Given the description of an element on the screen output the (x, y) to click on. 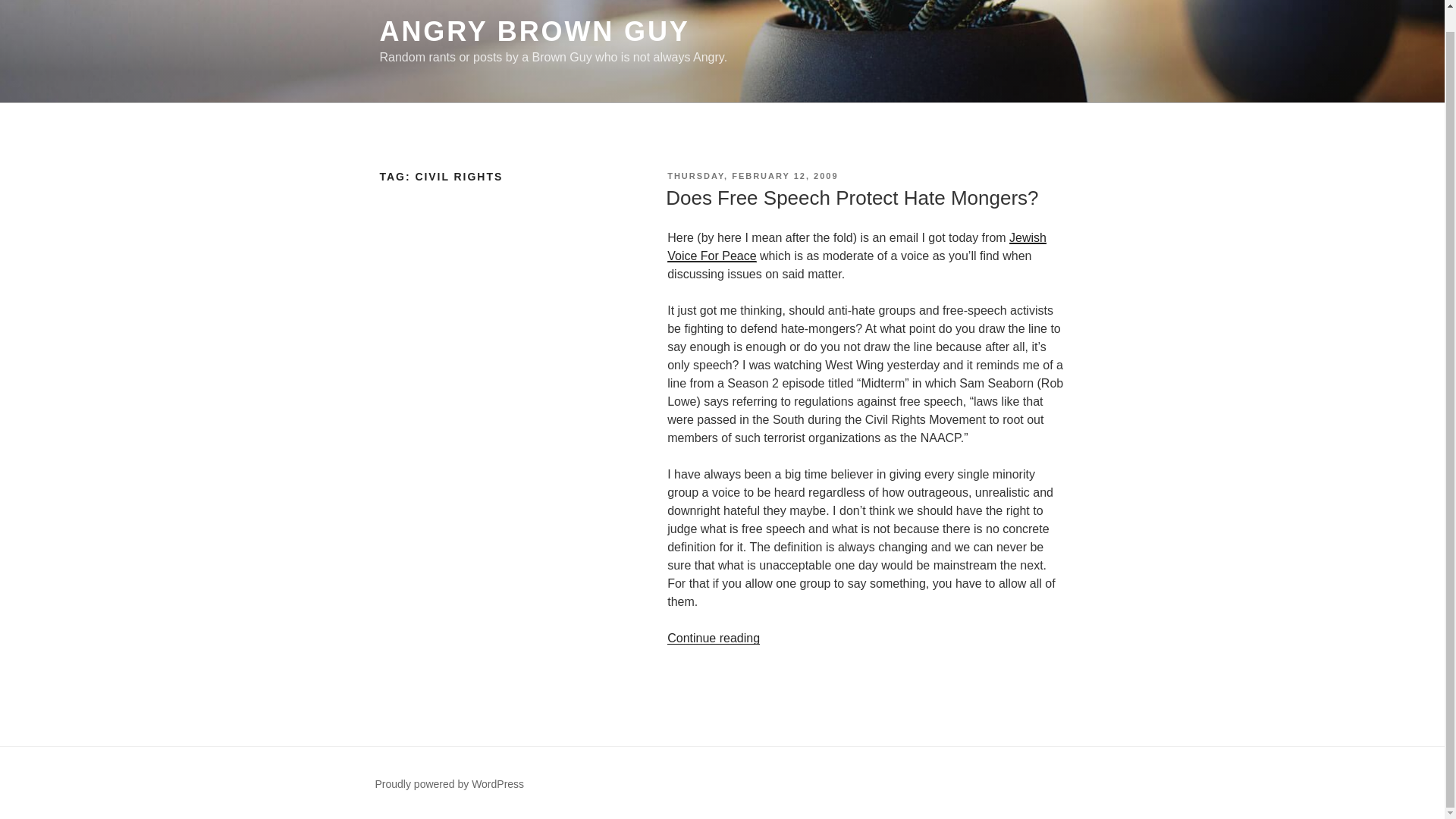
ANGRY BROWN GUY (533, 30)
Jewish Voice For Peace (856, 246)
Proudly powered by WordPress (449, 784)
Does Free Speech Protect Hate Mongers? (851, 197)
THURSDAY, FEBRUARY 12, 2009 (752, 175)
